Given the description of an element on the screen output the (x, y) to click on. 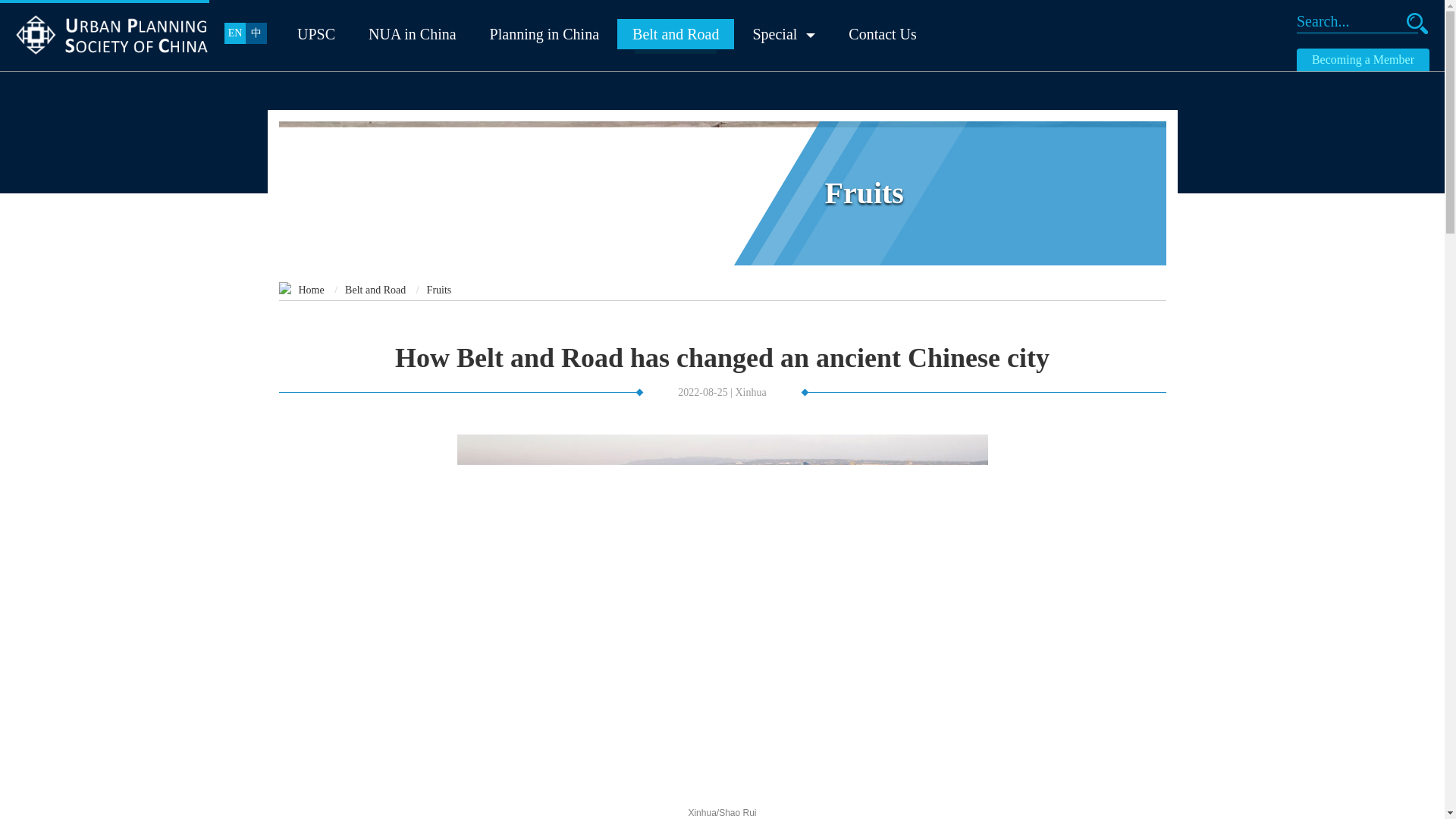
NUA in China (412, 33)
UPSC (316, 33)
EN (235, 33)
Home (311, 289)
search (1417, 23)
Planning in China (544, 33)
Belt and Road (375, 289)
Special (782, 33)
Fruits (438, 289)
